Given the description of an element on the screen output the (x, y) to click on. 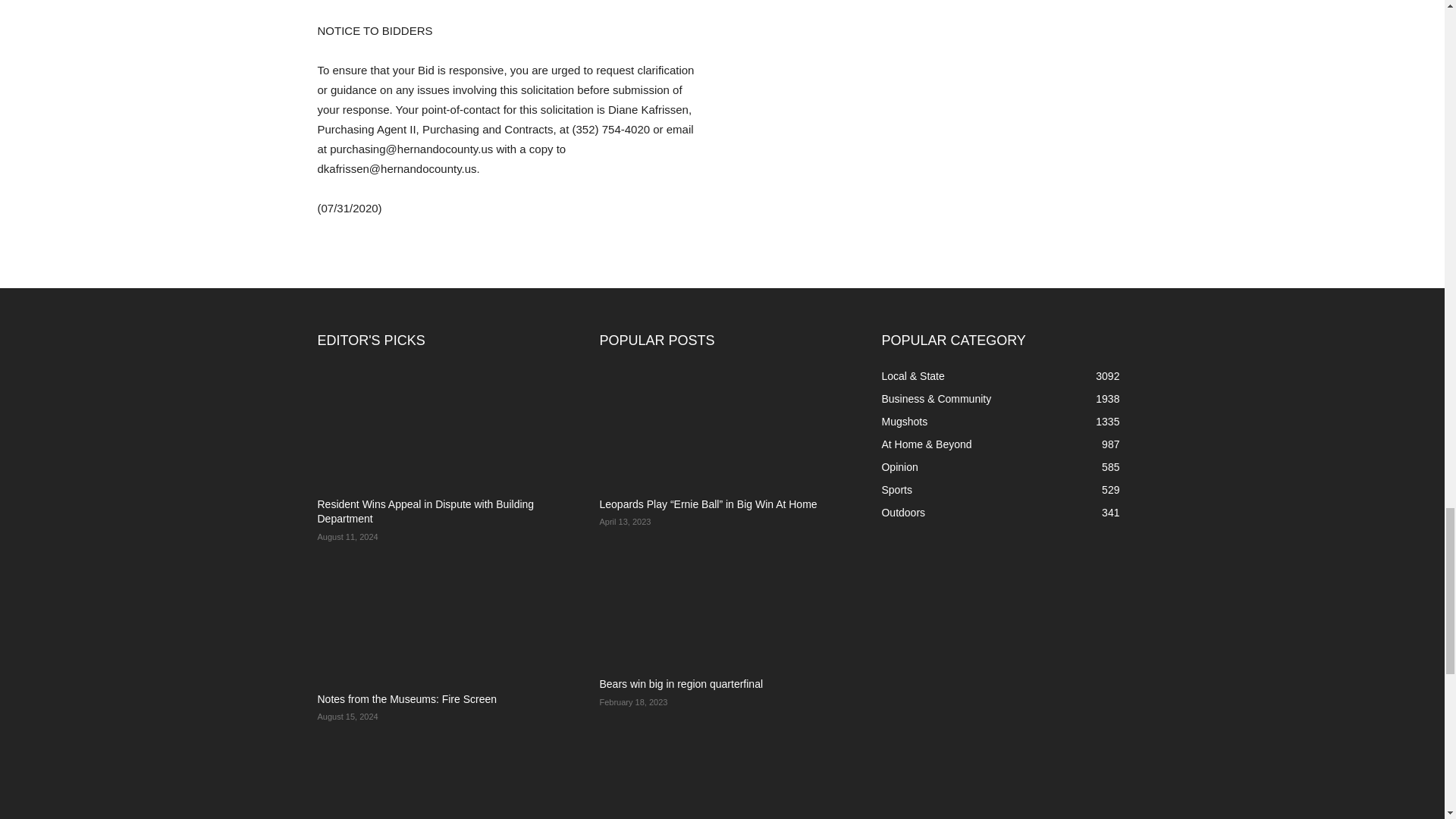
Resident Wins Appeal in Dispute with Building Department (425, 511)
Resident Wins Appeal in Dispute with Building Department (439, 425)
Notes from the Museums: Fire Screen (439, 620)
Notes from the Museums: Fire Screen (406, 698)
